Given the description of an element on the screen output the (x, y) to click on. 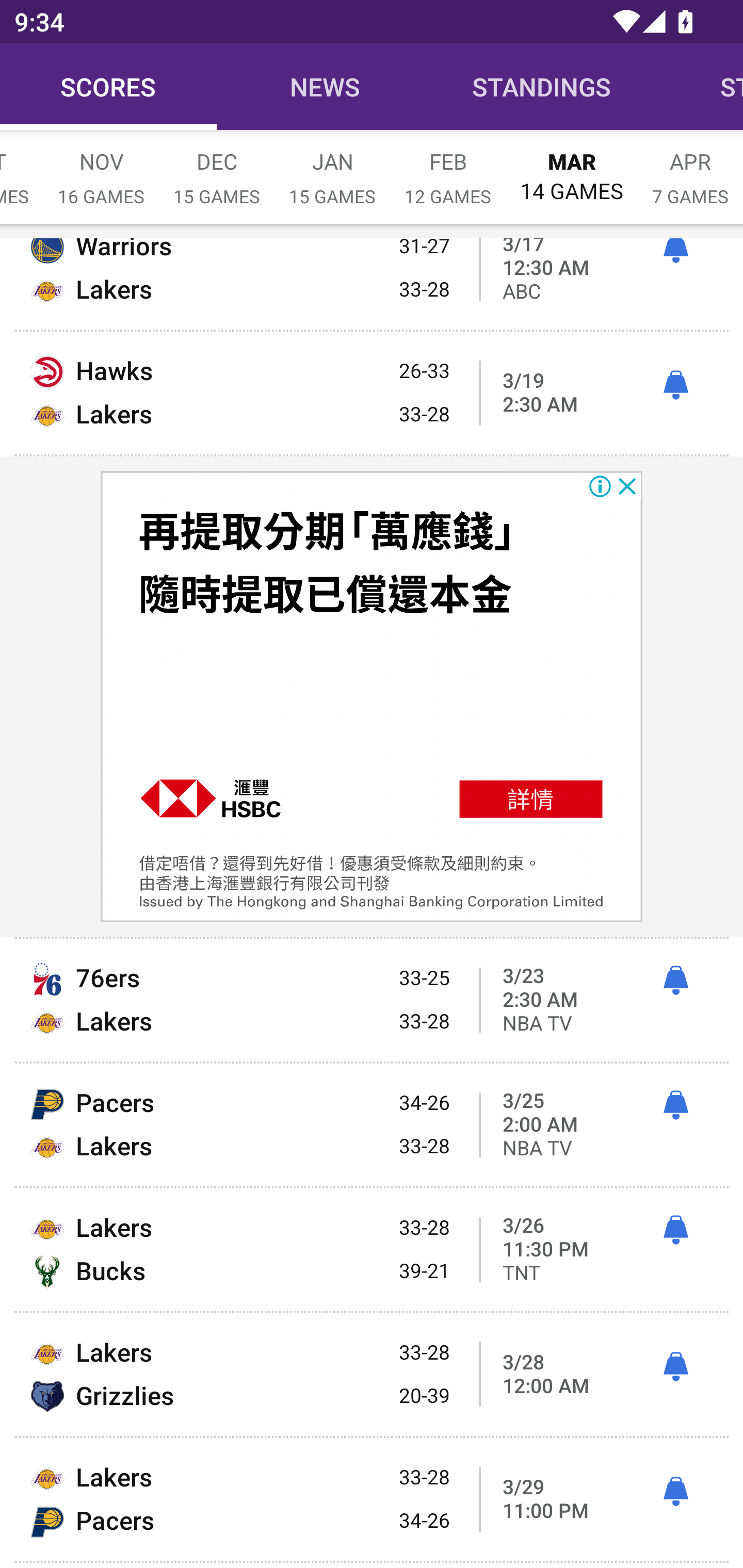
News NEWS (324, 86)
Standings STANDINGS (541, 86)
NOV 16 GAMES (101, 167)
DEC 15 GAMES (216, 167)
JAN 15 GAMES (332, 167)
FEB 12 GAMES (447, 167)
MAR 14 GAMES (571, 167)
APR 7 GAMES (690, 167)
Warriors 31-27 Lakers 33-28 3/17 12:30 AM ì ABC (371, 283)
ì (675, 251)
Hawks 26-33 Lakers 33-28 3/19 2:30 AM ì (371, 393)
ì (675, 385)
300x250 (371, 695)
76ers 33-25 Lakers 33-28 3/23 2:30 AM ì NBA TV (371, 1000)
ì (675, 980)
Pacers 34-26 Lakers 33-28 3/25 2:00 AM ì NBA TV (371, 1124)
ì (675, 1105)
Lakers 33-28 Bucks 39-21 3/26 11:30 PM ì TNT (371, 1249)
ì (675, 1229)
Lakers 33-28 Grizzlies 20-39 3/28 12:00 AM ì (371, 1374)
ì (675, 1366)
Lakers 33-28 Pacers 34-26 3/29 11:00 PM ì (371, 1498)
ì (675, 1491)
